Given the description of an element on the screen output the (x, y) to click on. 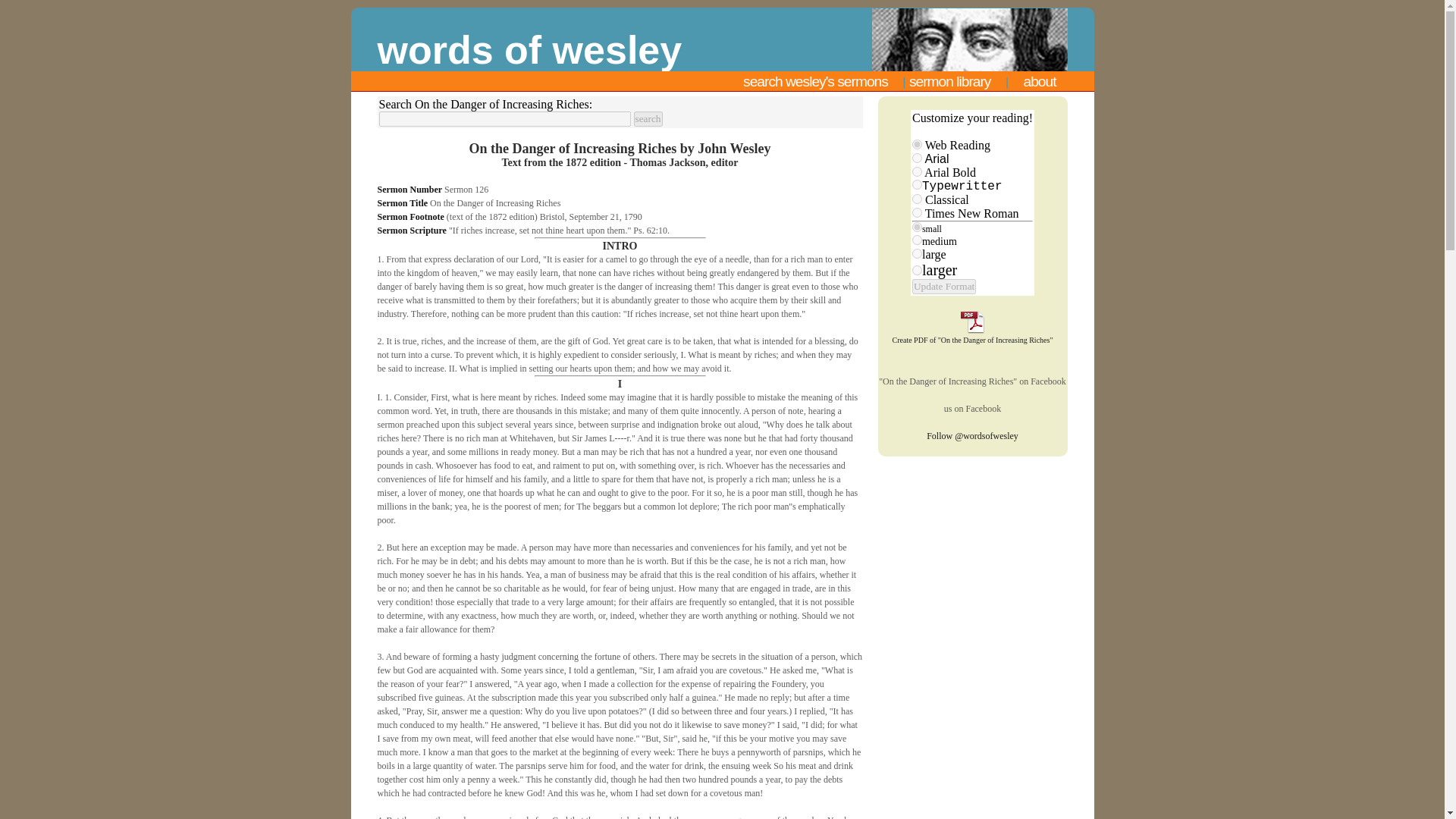
Courier New (916, 184)
14 (916, 239)
16 (916, 253)
search (647, 118)
20 (916, 270)
search (647, 118)
Arial (916, 157)
Update Format (943, 286)
Verdana (916, 144)
Arial Black (916, 171)
